Given the description of an element on the screen output the (x, y) to click on. 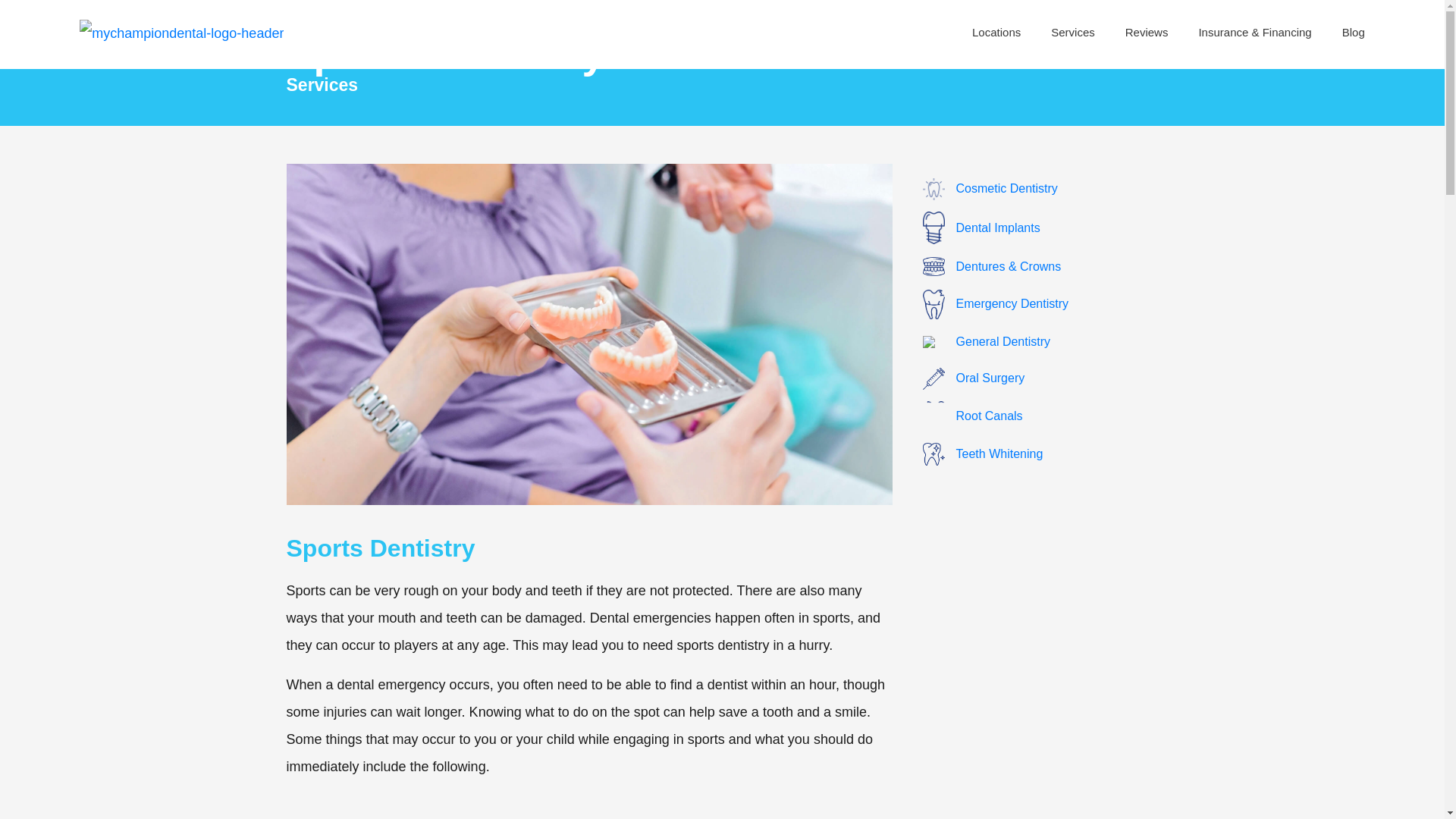
Reviews (1146, 32)
Blog (1345, 32)
mychampiondental-logo-header (181, 32)
Locations (995, 32)
Services (1072, 32)
